Given the description of an element on the screen output the (x, y) to click on. 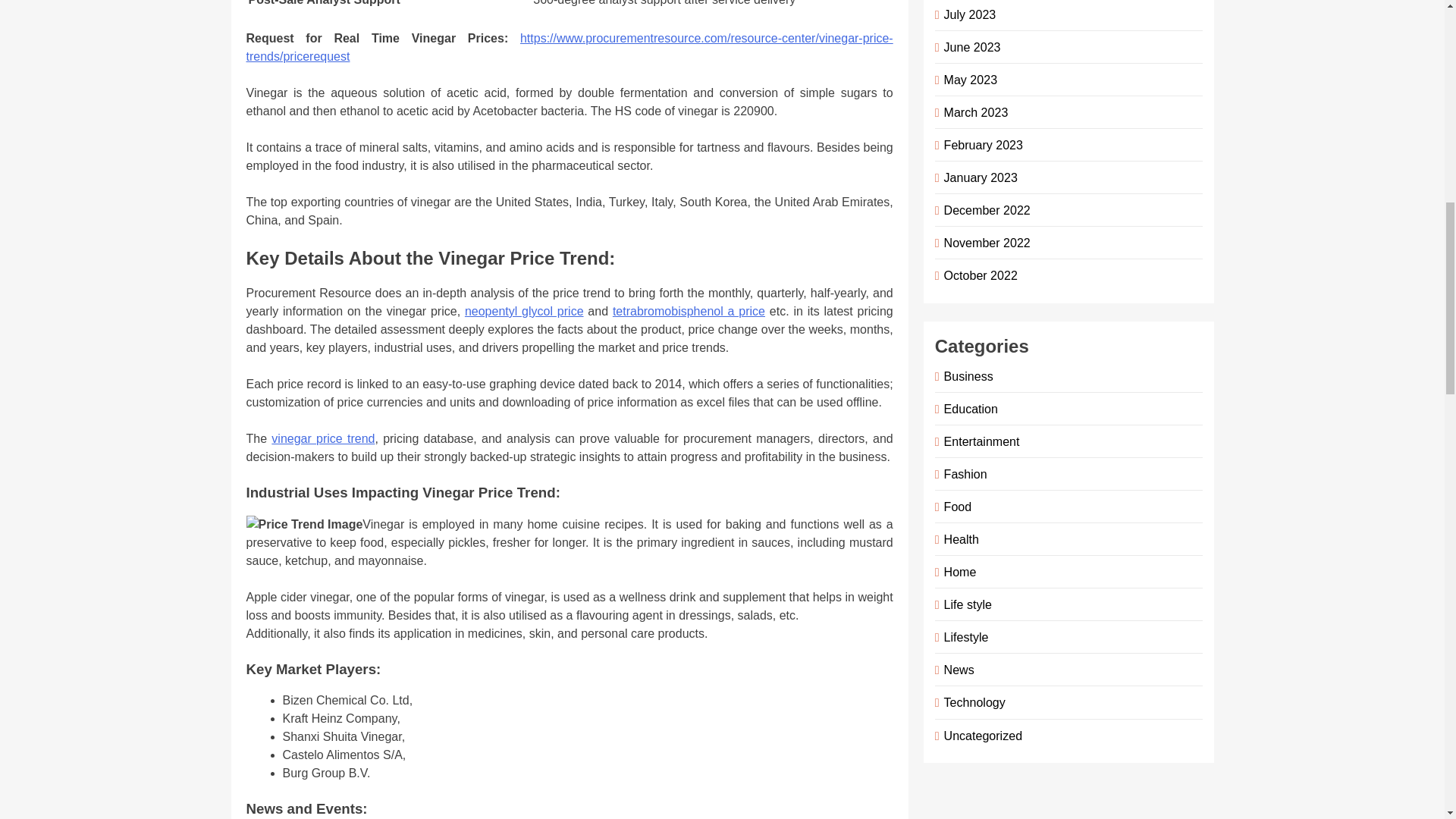
neopentyl glycol price (523, 310)
vinegar price trend (322, 438)
tetrabromobisphenol a price (688, 310)
